Given the description of an element on the screen output the (x, y) to click on. 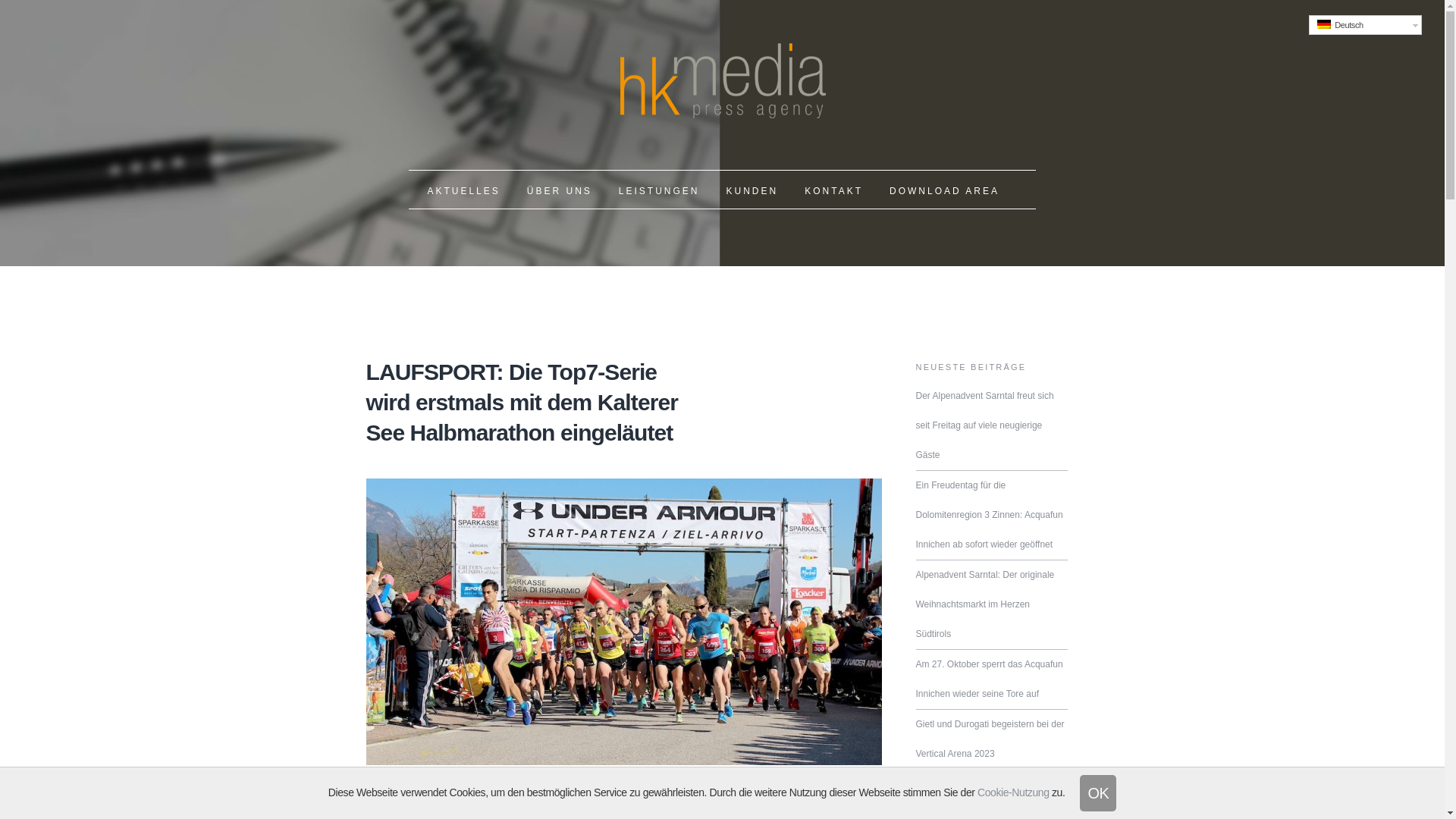
AKTUELLES Element type: text (462, 189)
Gietl und Durogati begeistern bei der Vertical Arena 2023 Element type: text (990, 738)
OK Element type: text (1097, 793)
Deutsch Element type: hover (1323, 23)
Cookie-Nutzung Element type: text (1013, 792)
KUNDEN Element type: text (752, 189)
DOWNLOAD AREA Element type: text (944, 189)
 Deutsch Element type: text (1364, 24)
KONTAKT Element type: text (833, 189)
LEISTUNGEN Element type: text (659, 189)
